Given the description of an element on the screen output the (x, y) to click on. 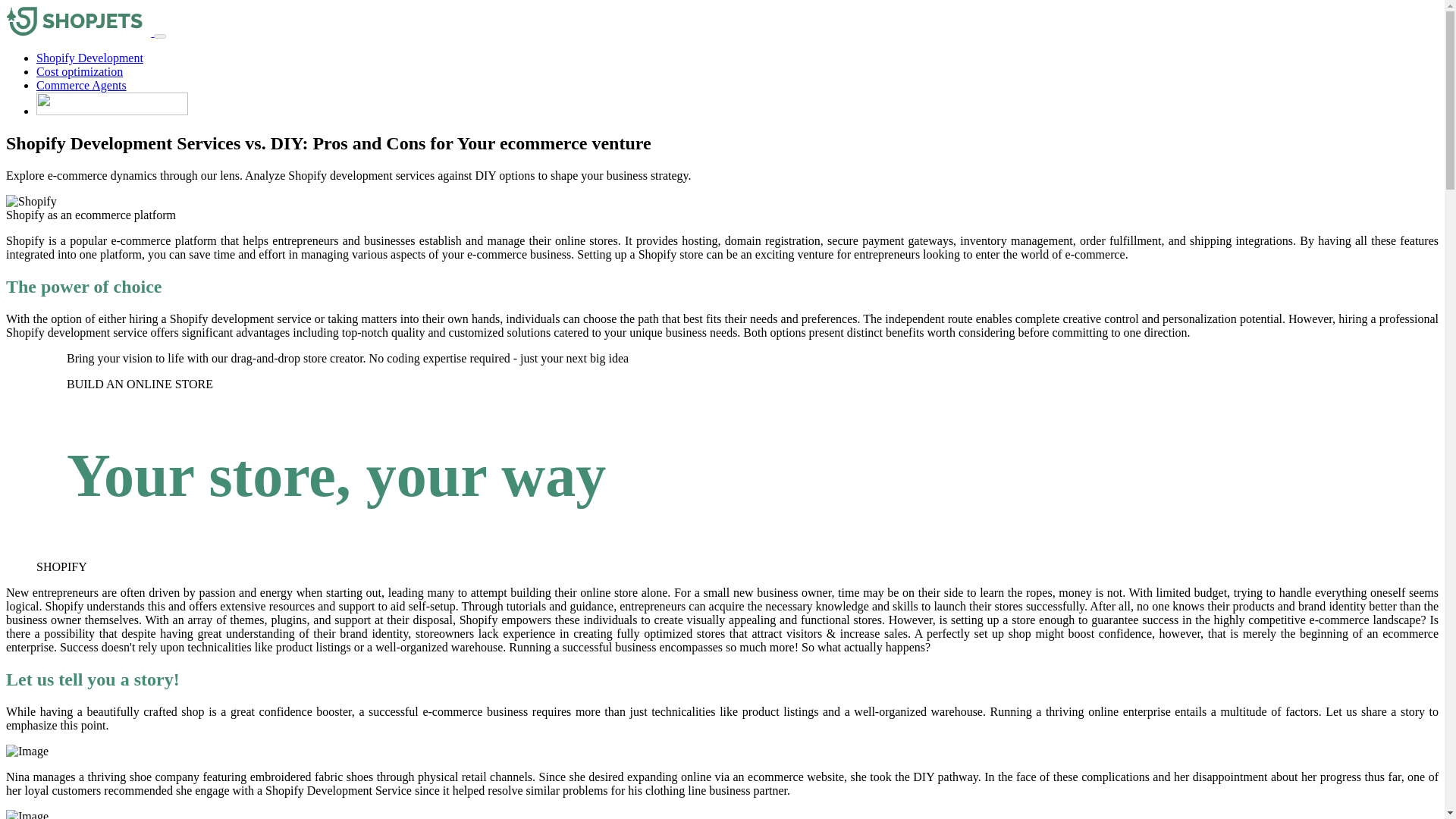
Cost optimization (79, 71)
Commerce Agents (81, 84)
Shopify Development (89, 57)
